Given the description of an element on the screen output the (x, y) to click on. 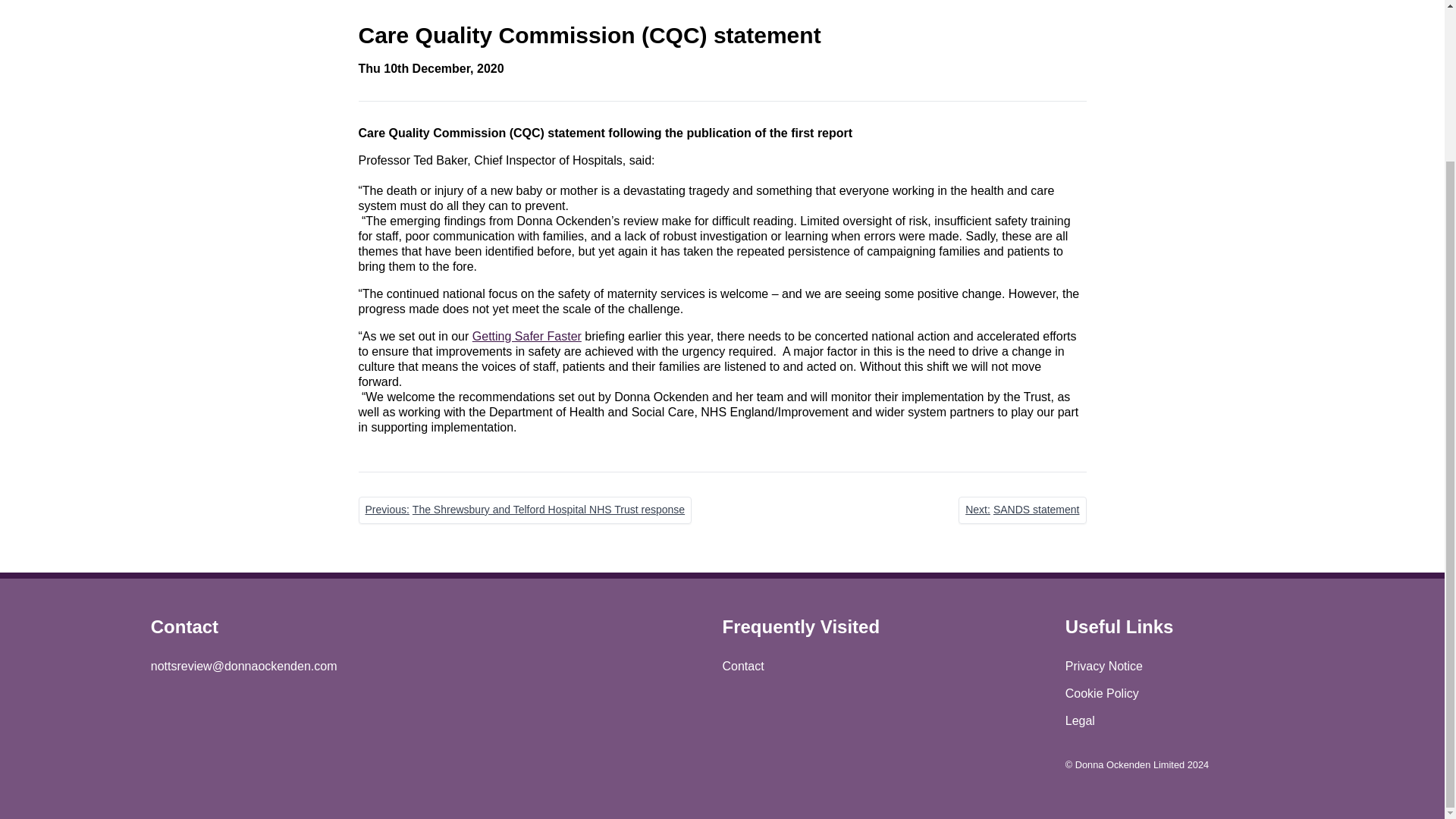
Getting Safer Faster (1022, 510)
